Given the description of an element on the screen output the (x, y) to click on. 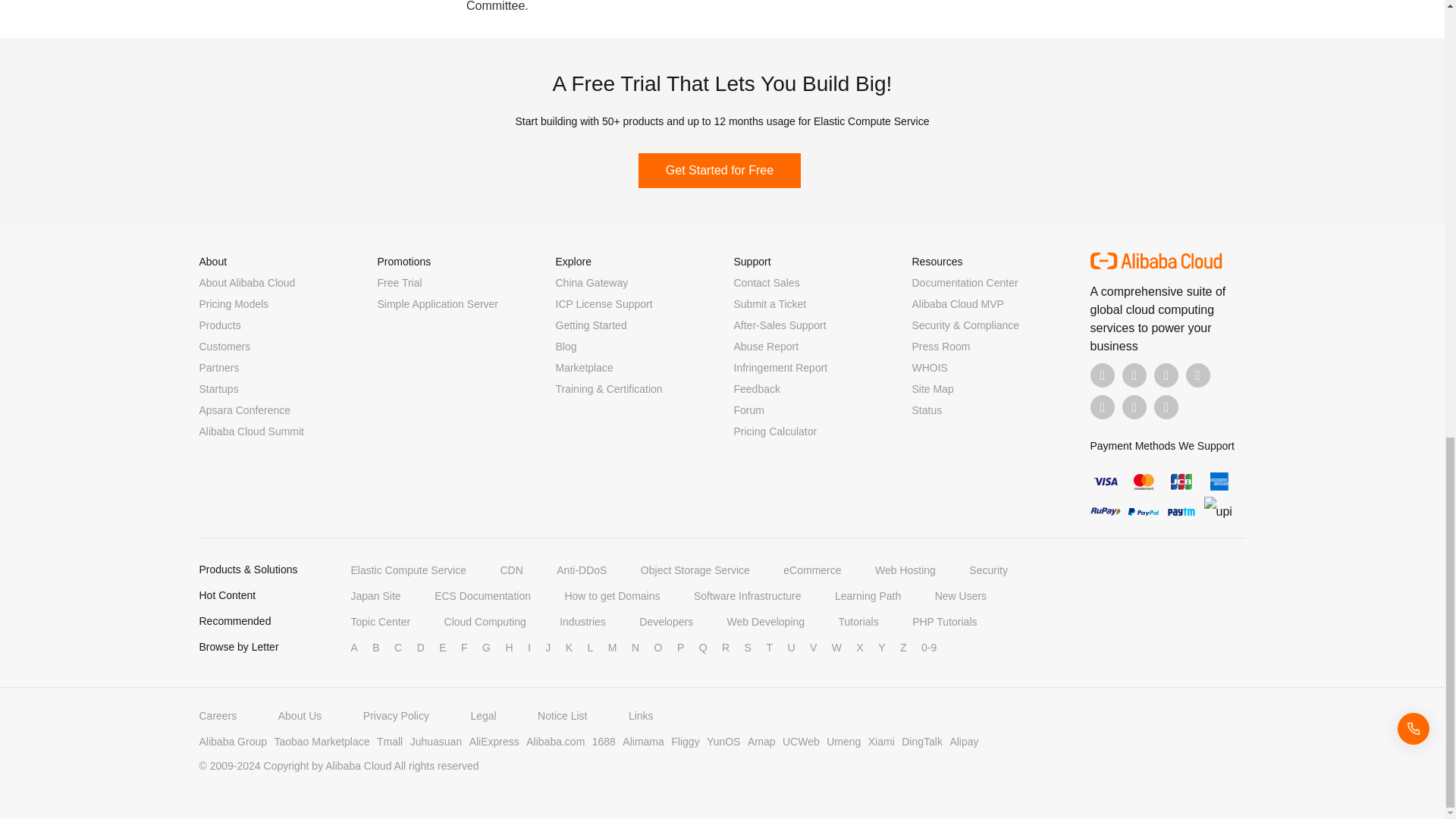
Linkedin (1134, 375)
Facebook (1102, 375)
YouTube (1197, 375)
Call Us Now (1165, 406)
TikTok (1102, 406)
Twitter (1165, 375)
